Given the description of an element on the screen output the (x, y) to click on. 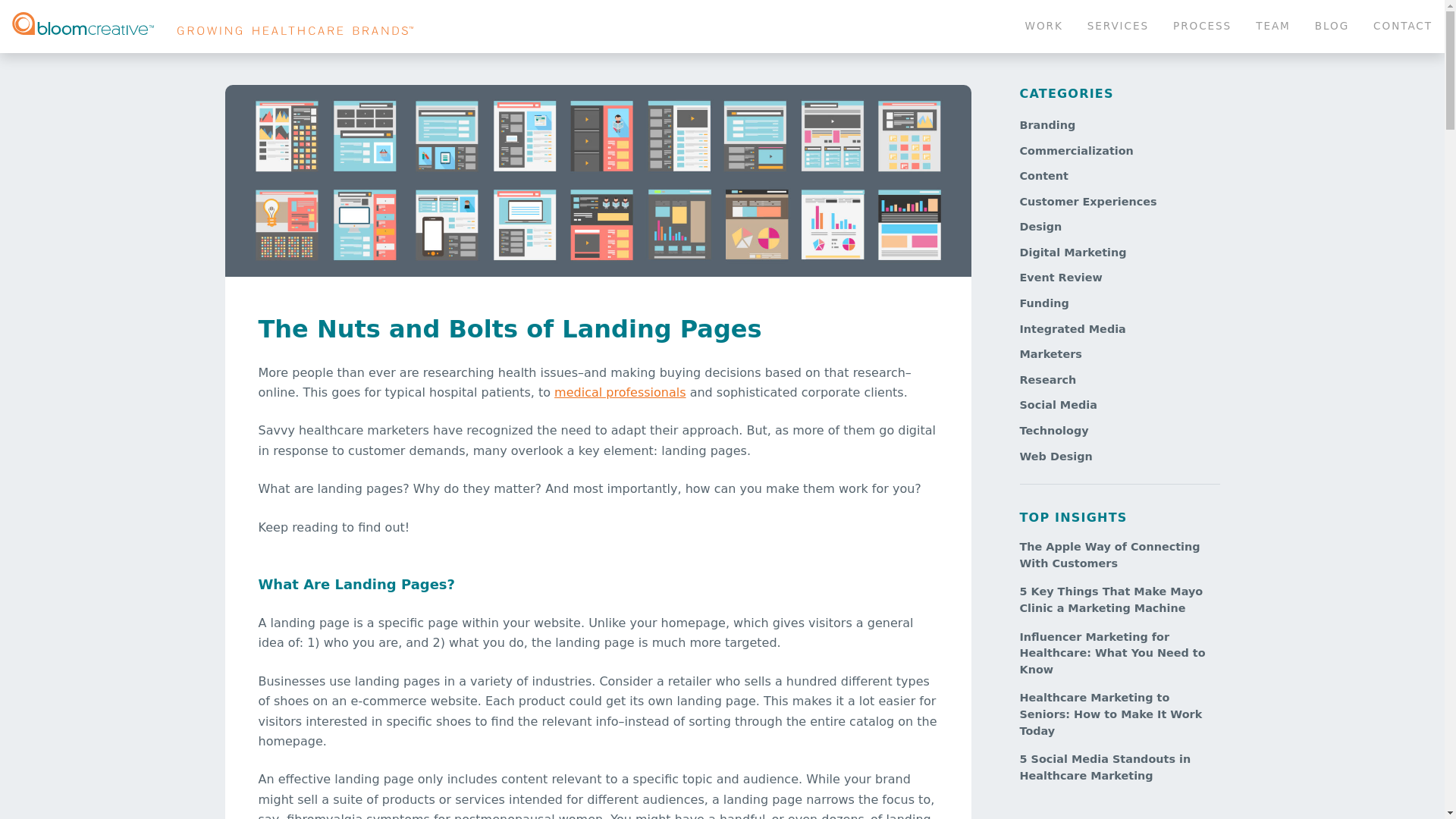
Healthcare Marketing to Seniors: How to Make It Work Today (1113, 714)
5 Key Things That Make Mayo Clinic a Marketing Machine (1113, 599)
Web Design (1055, 456)
Digital Marketing (1072, 252)
Funding (1043, 303)
Commercialization (1075, 150)
Design (1040, 226)
Social Media (1057, 404)
PROCESS (1202, 26)
CONTACT (1222, 26)
BLOG (1402, 26)
Integrated Media (1331, 26)
Customer Experiences (1072, 328)
Event Review (1087, 201)
